Given the description of an element on the screen output the (x, y) to click on. 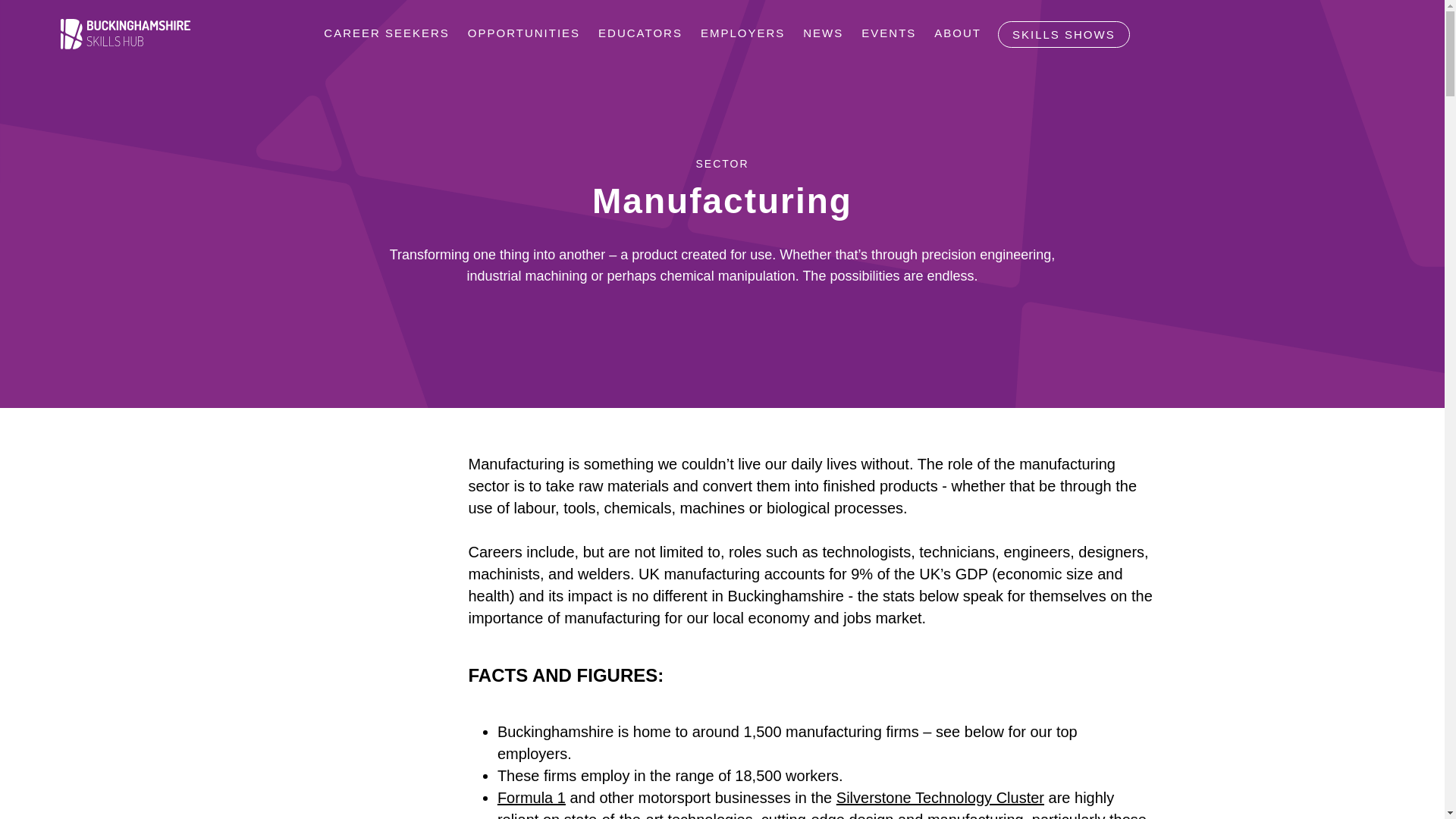
EMPLOYERS (742, 33)
SKILLS SHOWS (1063, 34)
EVENTS (887, 33)
OPPORTUNITIES (523, 33)
CAREER SEEKERS (386, 33)
ABOUT (957, 33)
EDUCATORS (640, 33)
